Given the description of an element on the screen output the (x, y) to click on. 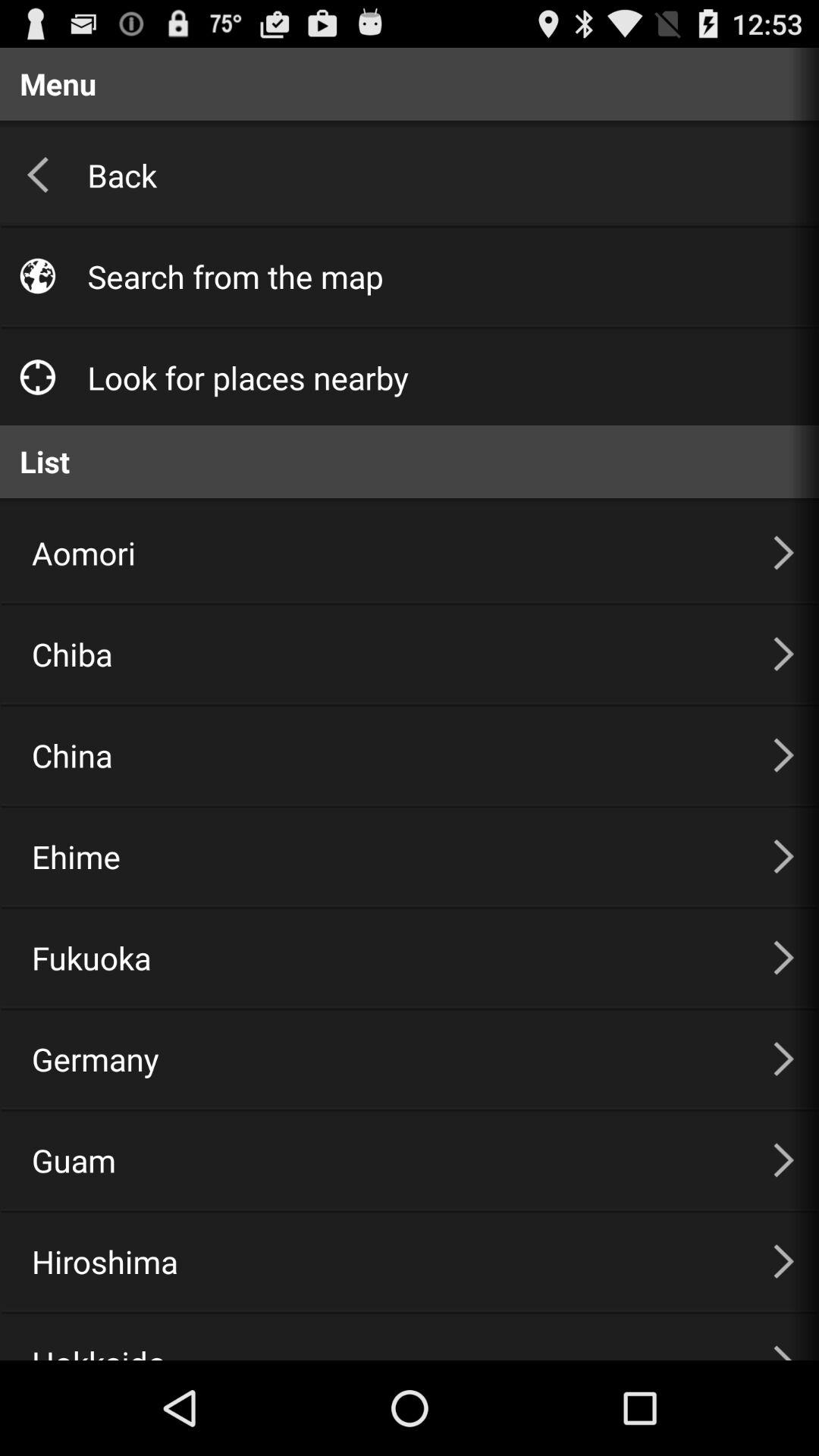
select the icon below hiroshima (384, 1337)
